Given the description of an element on the screen output the (x, y) to click on. 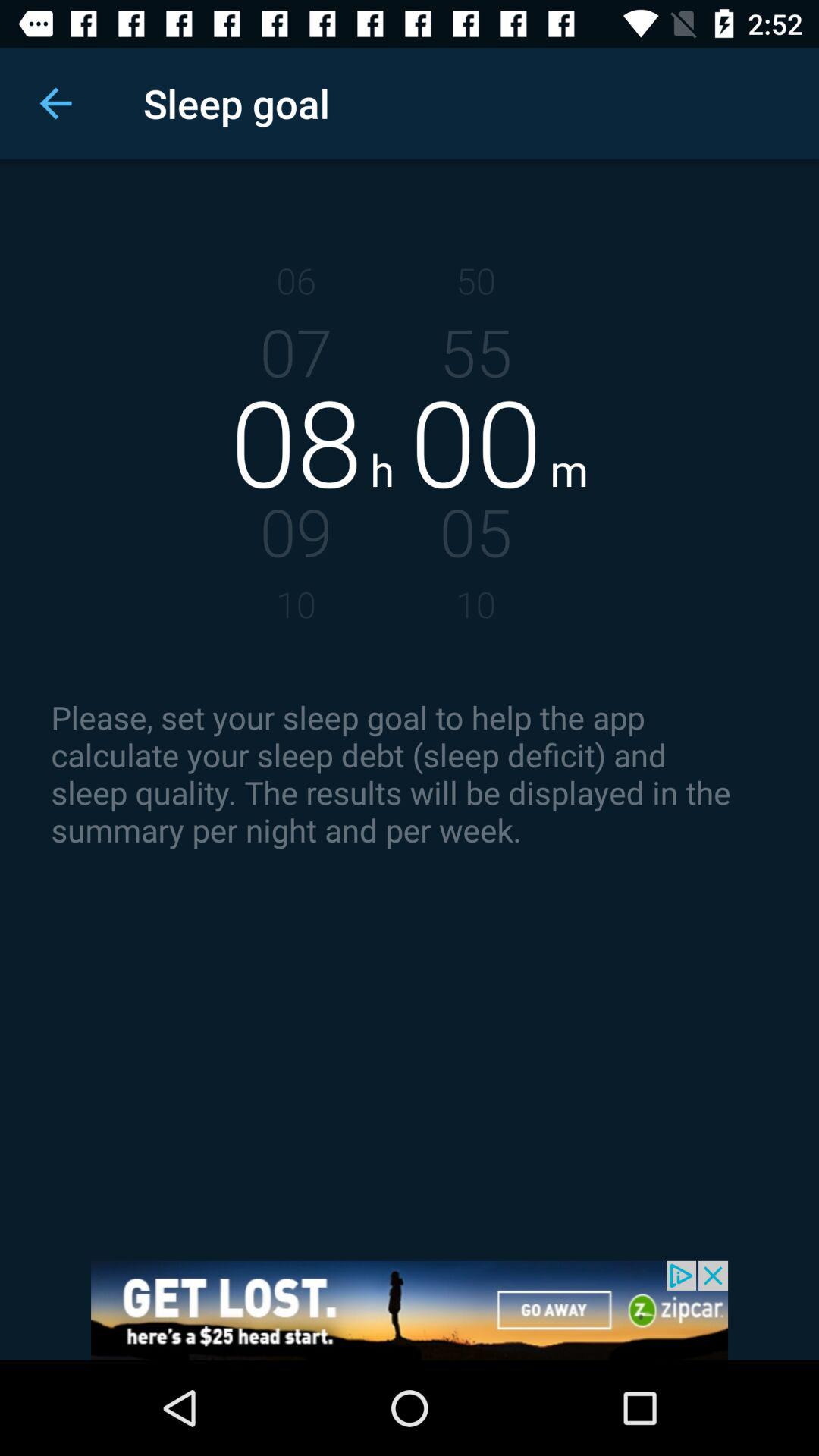
open advertisement (409, 1310)
